Given the description of an element on the screen output the (x, y) to click on. 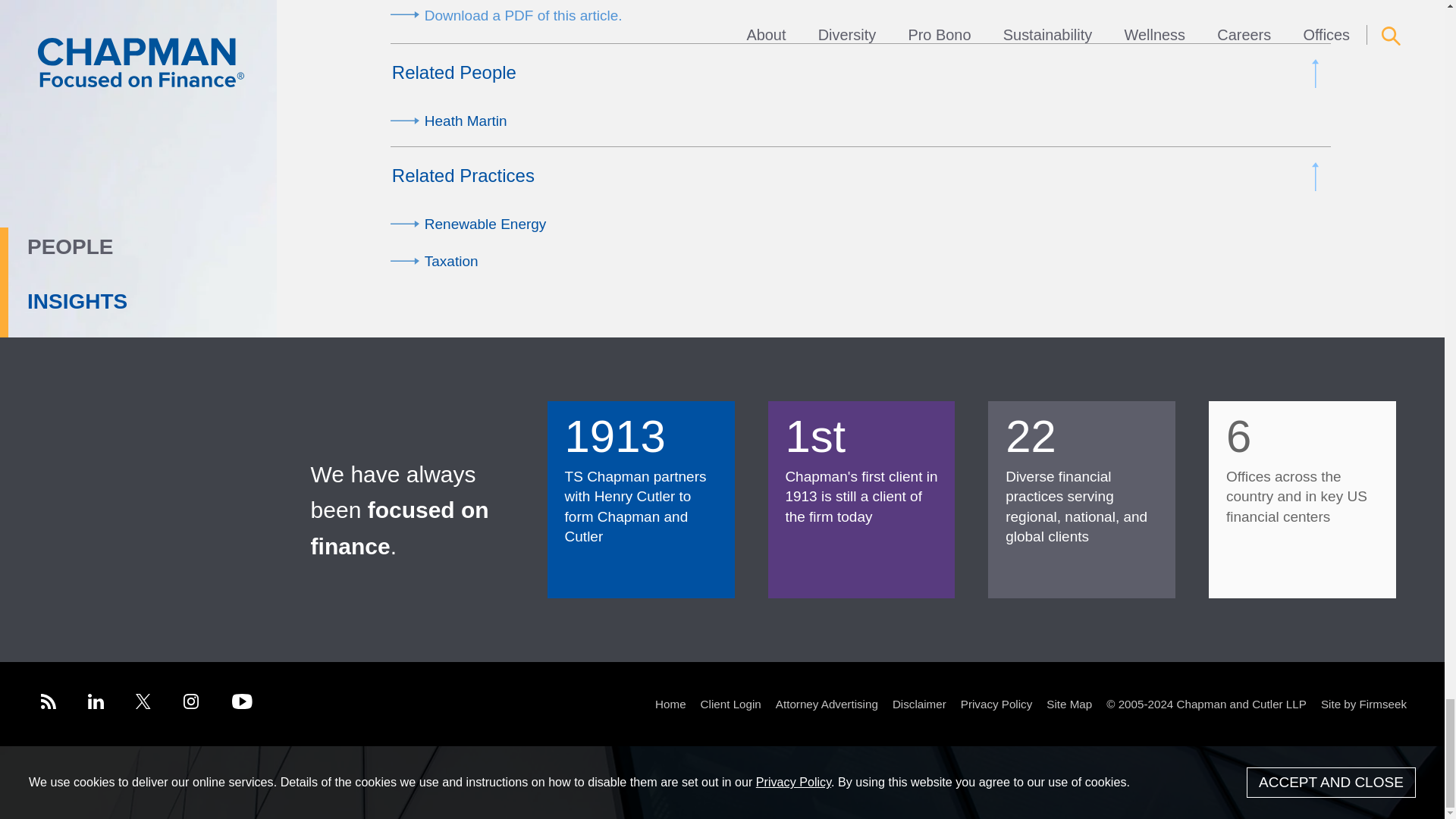
RSS Icon (48, 701)
LinkedIn Icon (95, 701)
youtube Icon (242, 704)
Instagram Icon (191, 701)
YouTube Icon (241, 701)
